Given the description of an element on the screen output the (x, y) to click on. 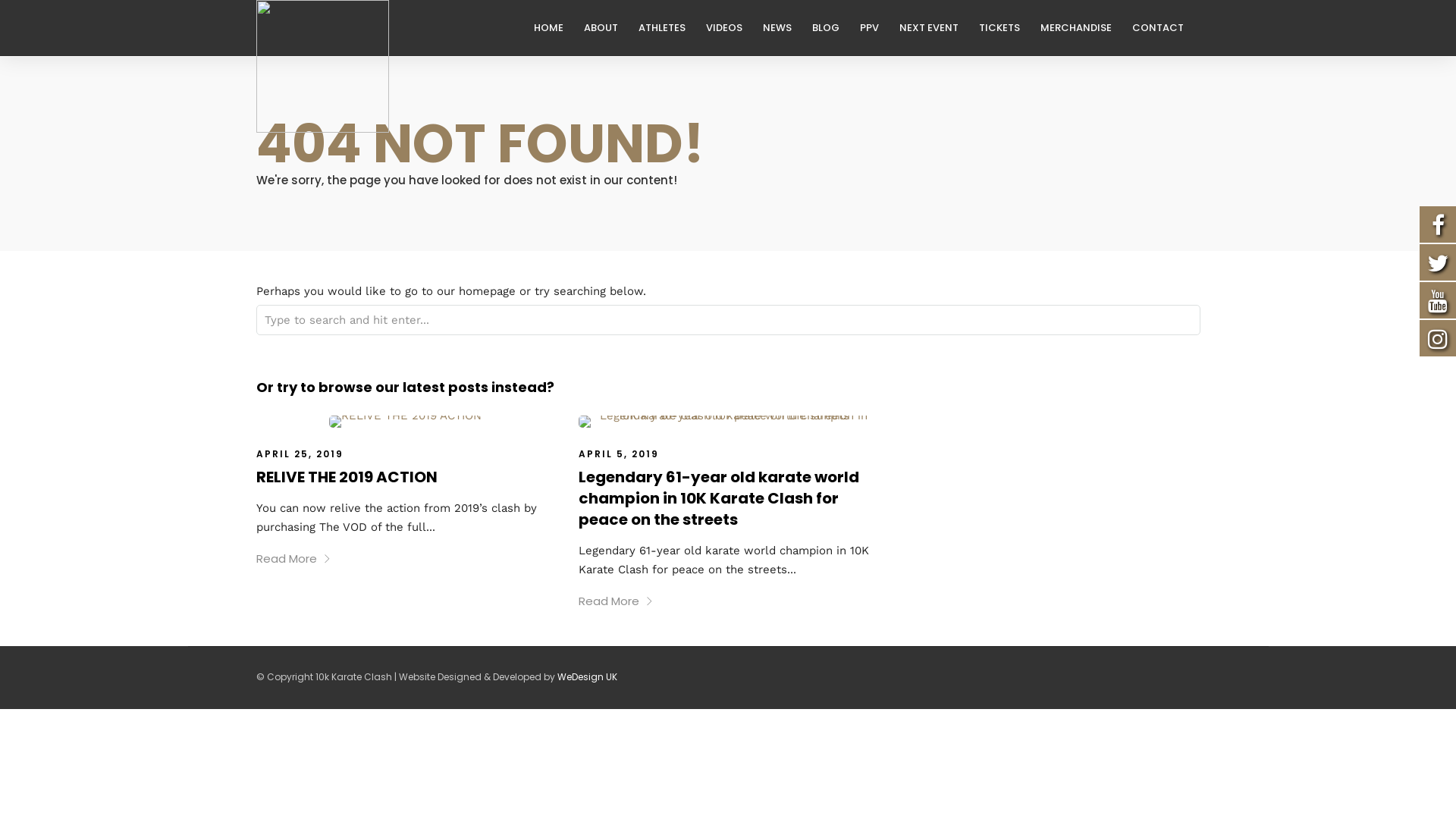
ATHLETES Element type: text (668, 28)
NEWS Element type: text (783, 28)
RELIVE THE 2019 ACTION Element type: text (346, 476)
Read More Element type: text (615, 600)
ABOUT Element type: text (606, 28)
CONTACT Element type: text (1163, 28)
APRIL 5, 2019 Element type: text (618, 453)
BLOG Element type: text (831, 28)
NEXT EVENT Element type: text (935, 28)
MERCHANDISE Element type: text (1082, 28)
WeDesign UK Element type: text (586, 676)
HOME Element type: text (554, 28)
VIDEOS Element type: text (729, 28)
TICKETS Element type: text (1005, 28)
PPV Element type: text (875, 28)
Read More Element type: text (293, 558)
APRIL 25, 2019 Element type: text (299, 453)
